Given the description of an element on the screen output the (x, y) to click on. 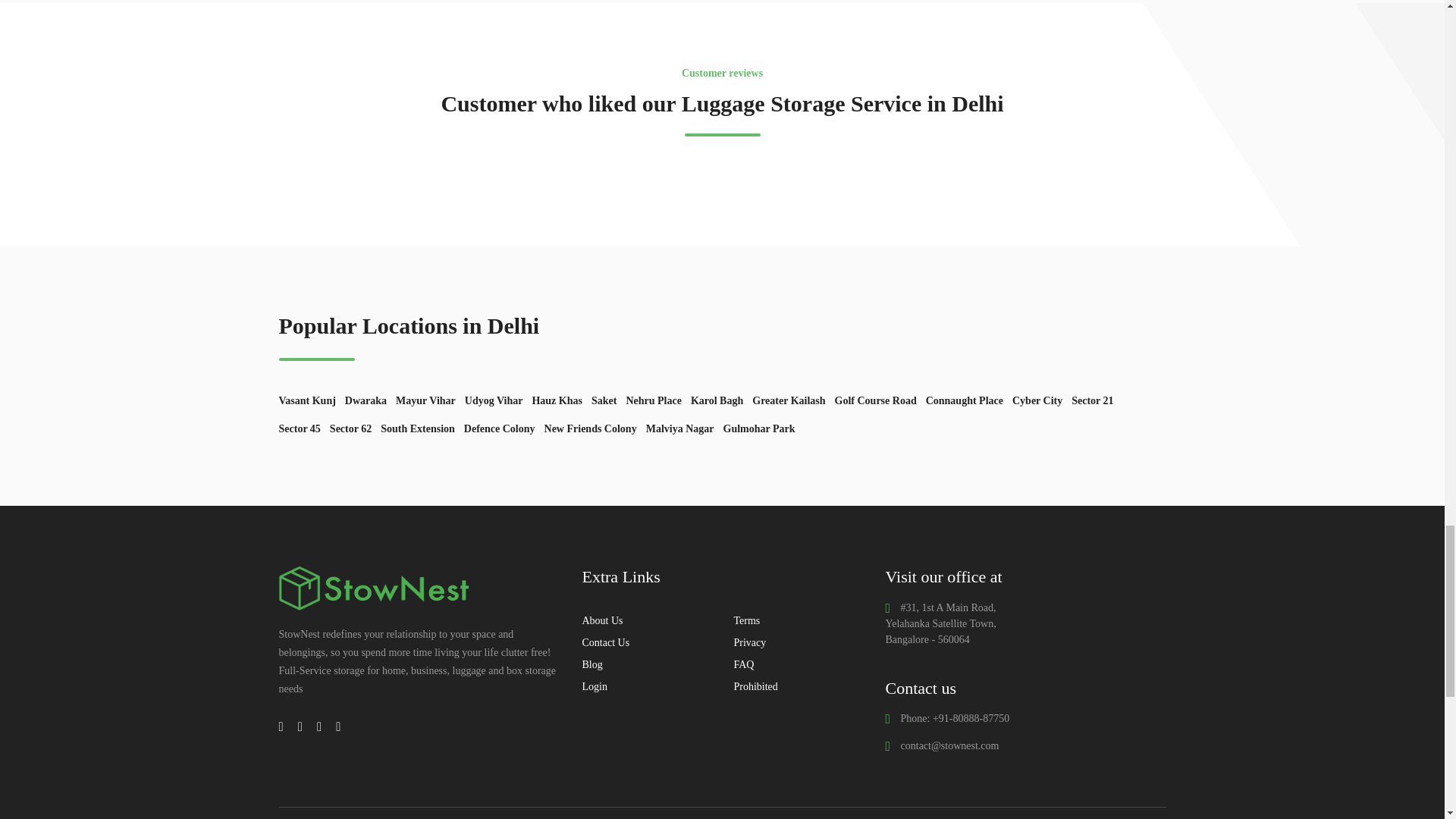
FAQ (743, 664)
About Us (601, 620)
Privacy (749, 642)
Terms (746, 620)
Blog (591, 664)
Prohibited (755, 686)
Contact Us (604, 642)
Login (593, 686)
